Given the description of an element on the screen output the (x, y) to click on. 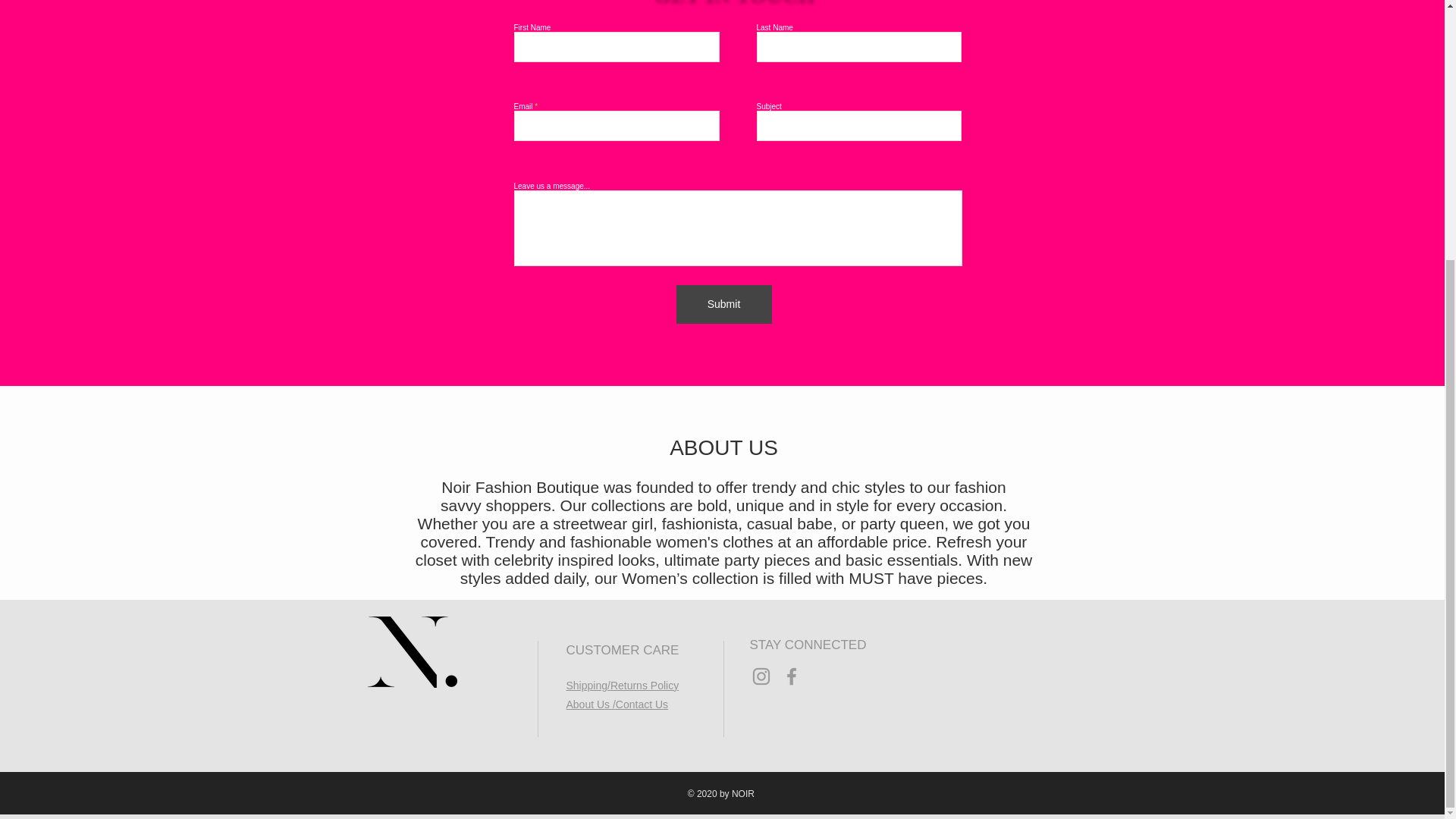
Submit (724, 304)
